Given the description of an element on the screen output the (x, y) to click on. 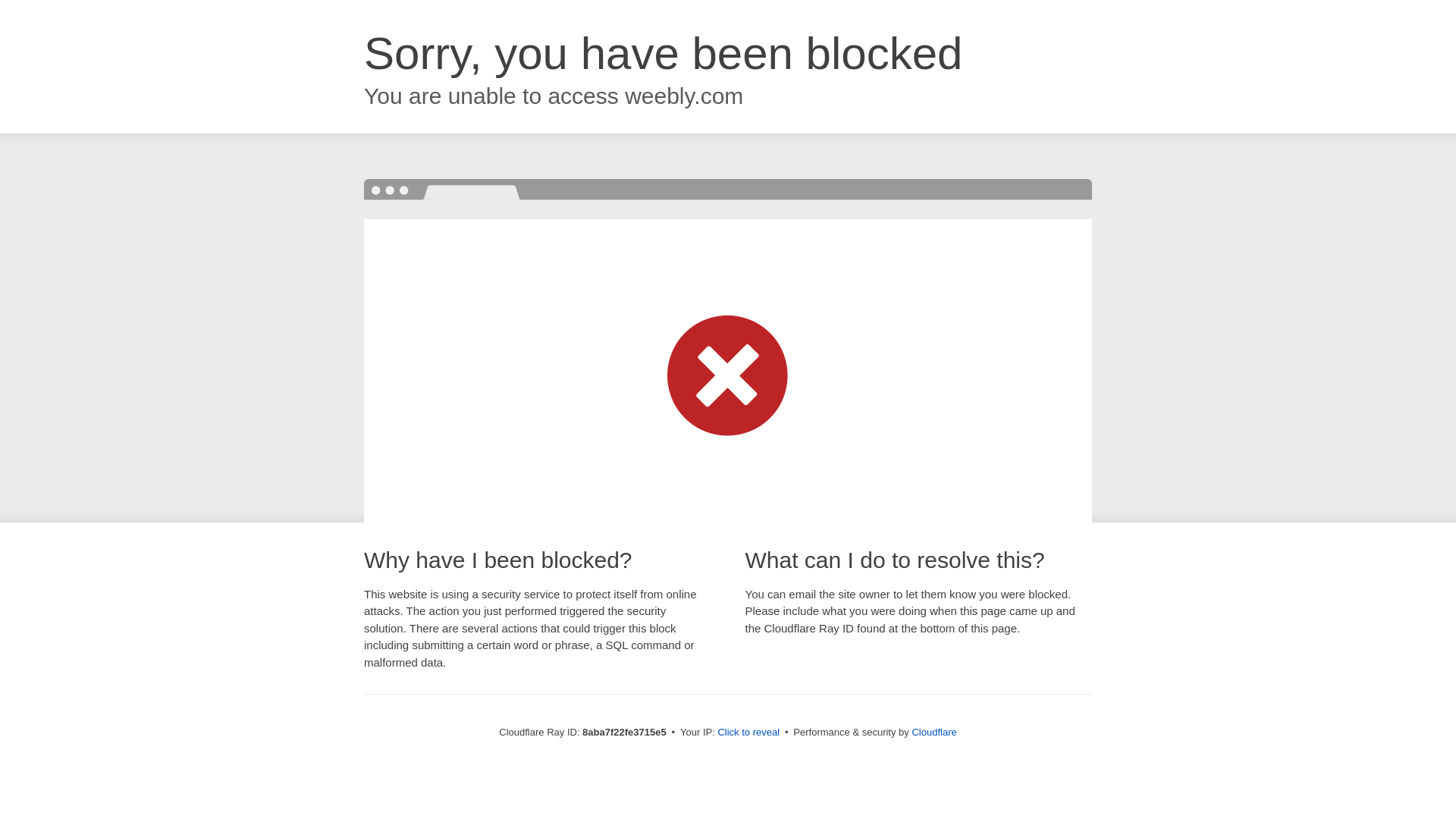
Cloudflare (933, 731)
Click to reveal (747, 732)
